Given the description of an element on the screen output the (x, y) to click on. 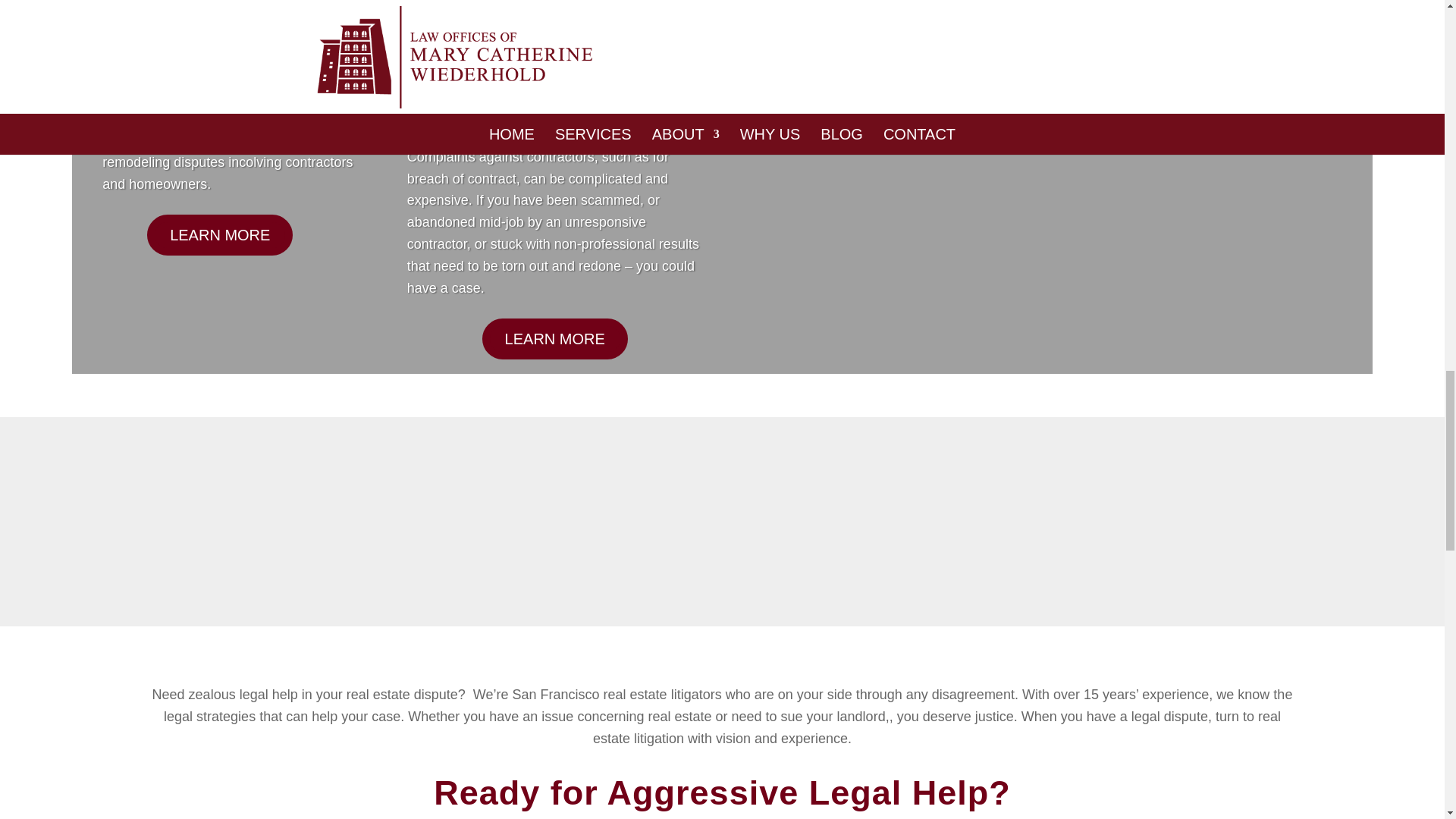
LEARN MORE (889, 38)
LEARN MORE (219, 234)
LEARN MORE (554, 338)
LEARN MORE (1224, 18)
